Given the description of an element on the screen output the (x, y) to click on. 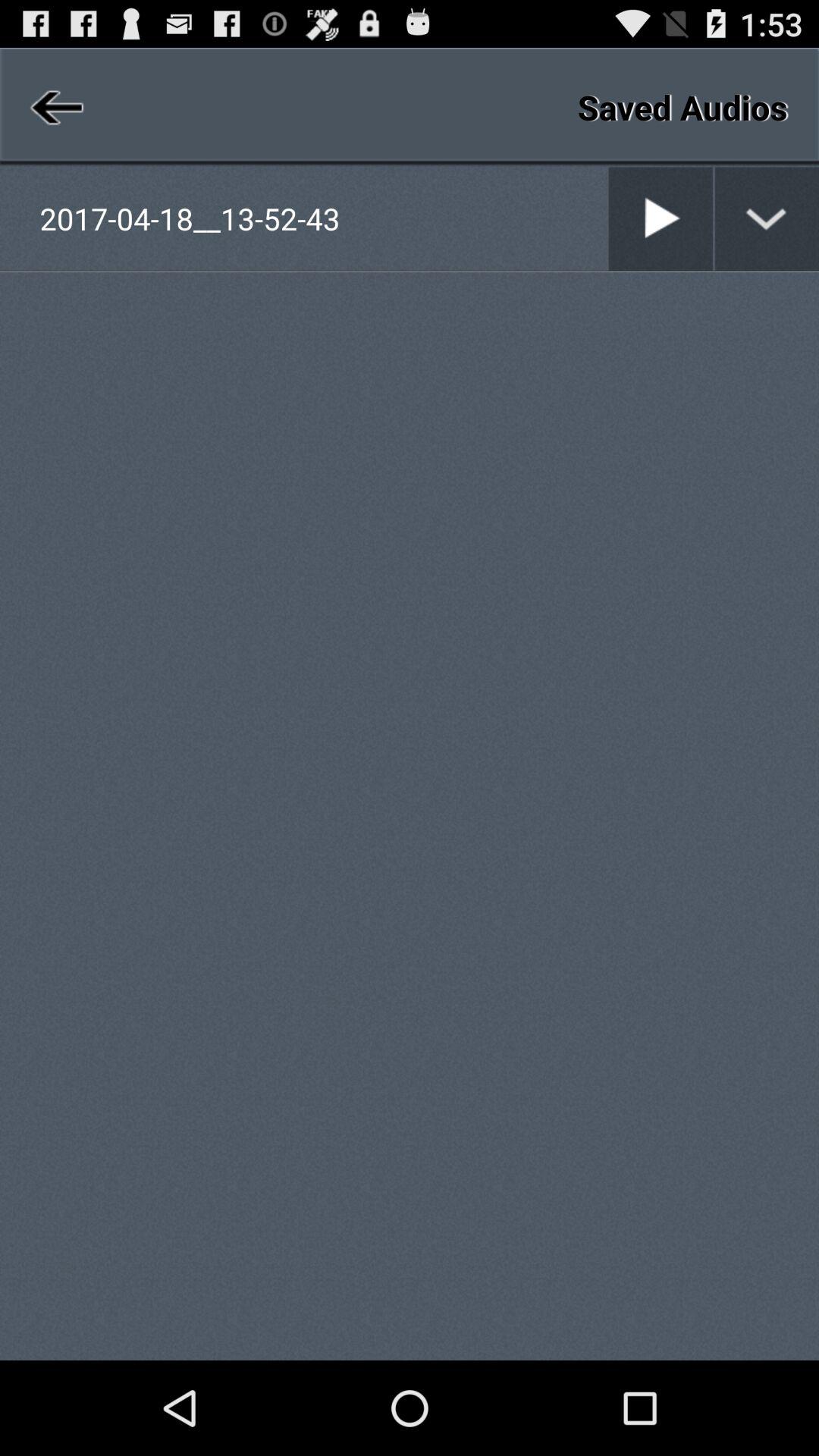
play (660, 218)
